Given the description of an element on the screen output the (x, y) to click on. 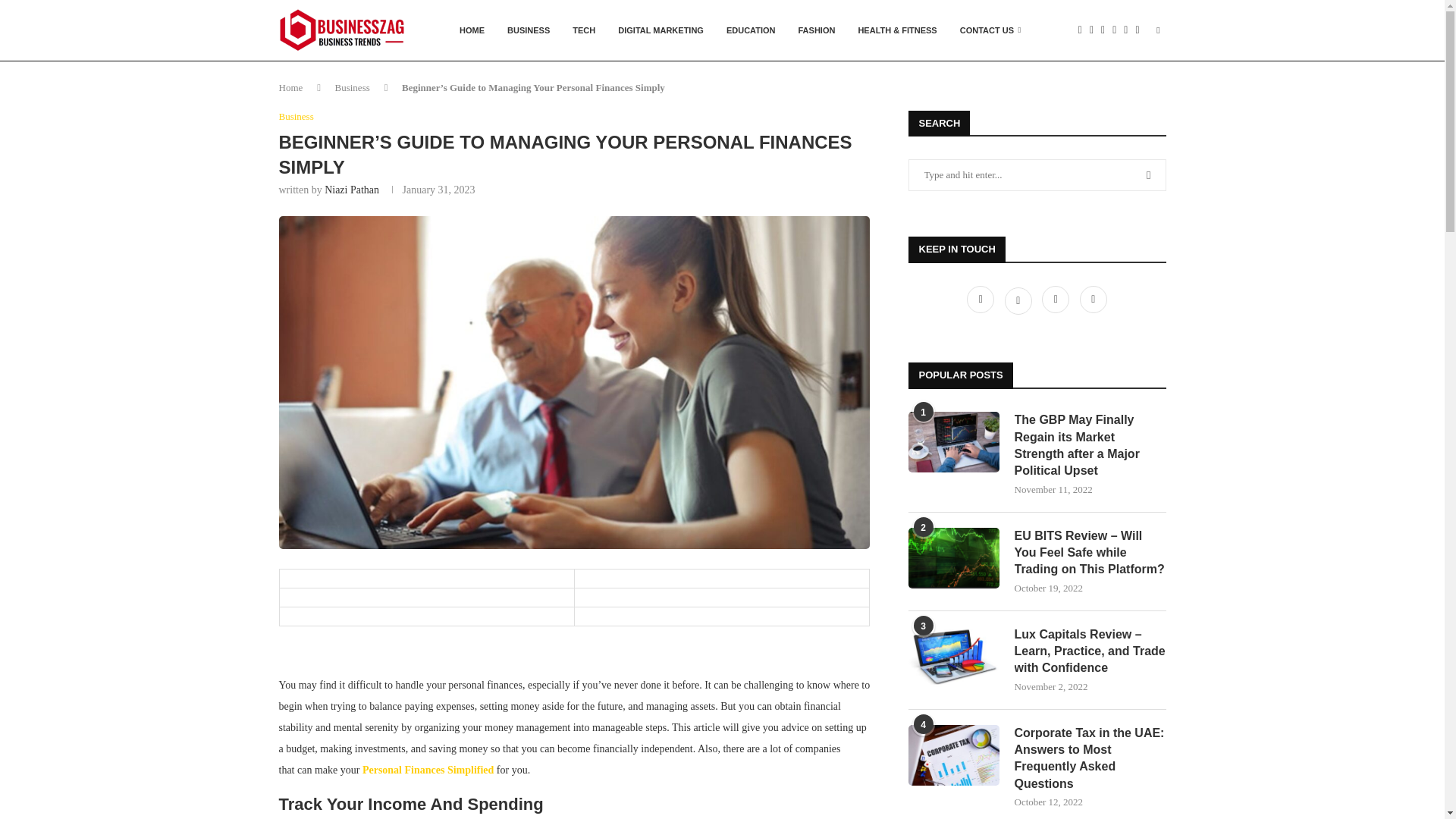
Business (296, 116)
Business (351, 87)
Home (290, 87)
EDUCATION (750, 30)
BUSINESS (528, 30)
CONTACT US (990, 30)
Niazi Pathan (351, 189)
FASHION (817, 30)
DIGITAL MARKETING (660, 30)
Personal Finances Simplified (427, 769)
